Given the description of an element on the screen output the (x, y) to click on. 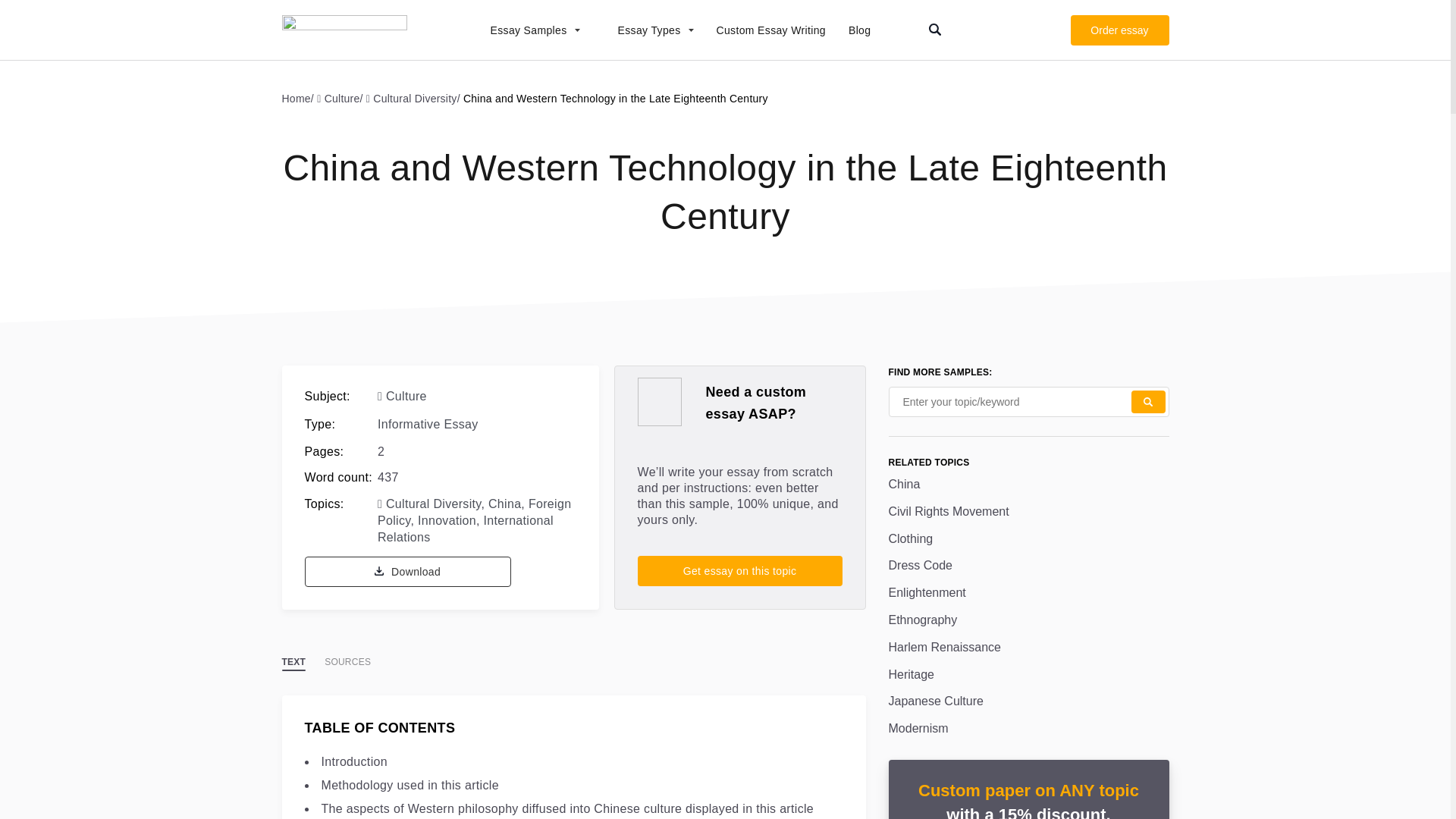
Go to Examples. (299, 97)
Search (1148, 401)
Essay Types (648, 30)
Introduction (354, 761)
Essay Samples (526, 30)
Methodology used in this article (410, 784)
